Given the description of an element on the screen output the (x, y) to click on. 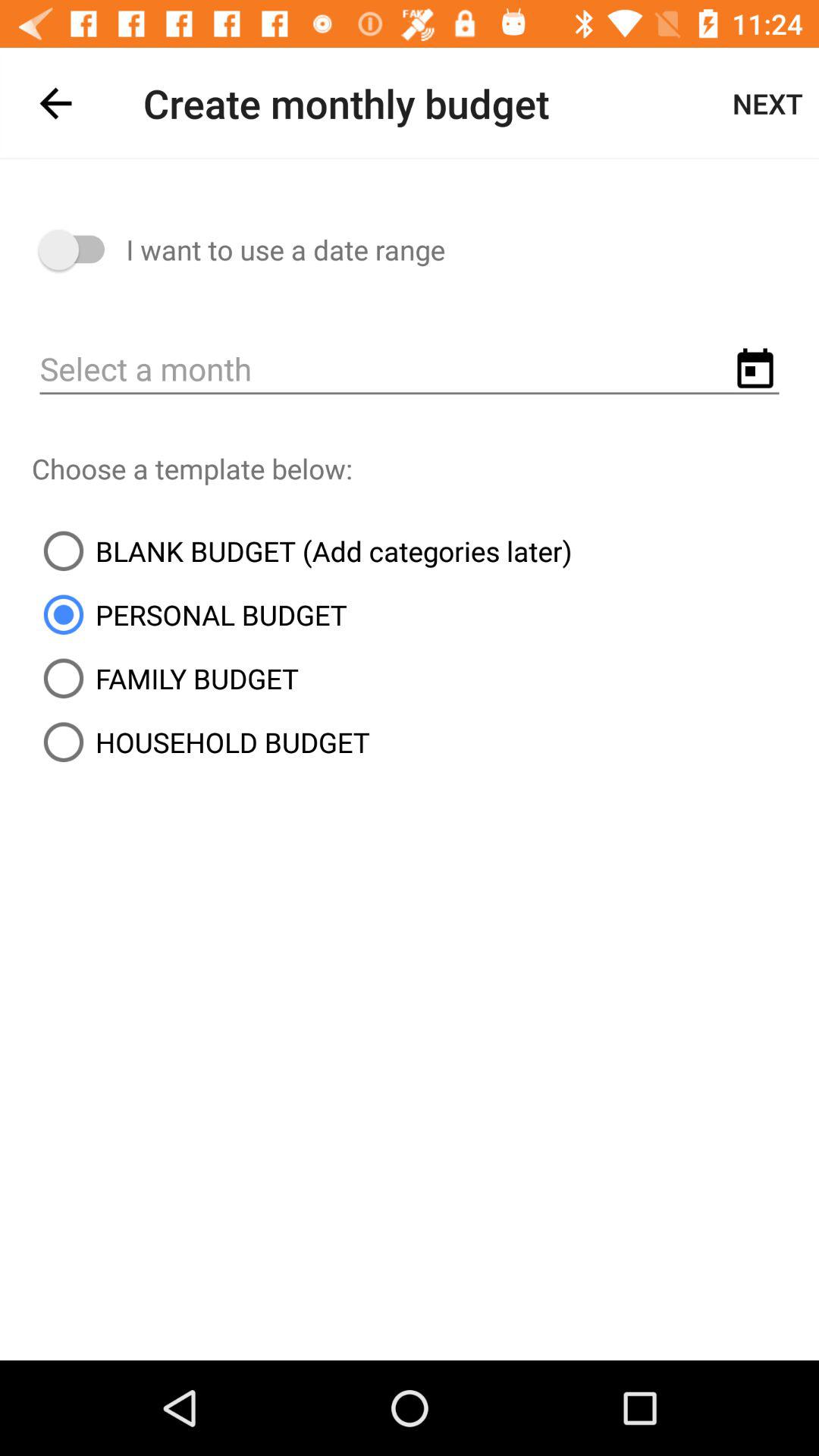
swipe to the next icon (767, 103)
